Given the description of an element on the screen output the (x, y) to click on. 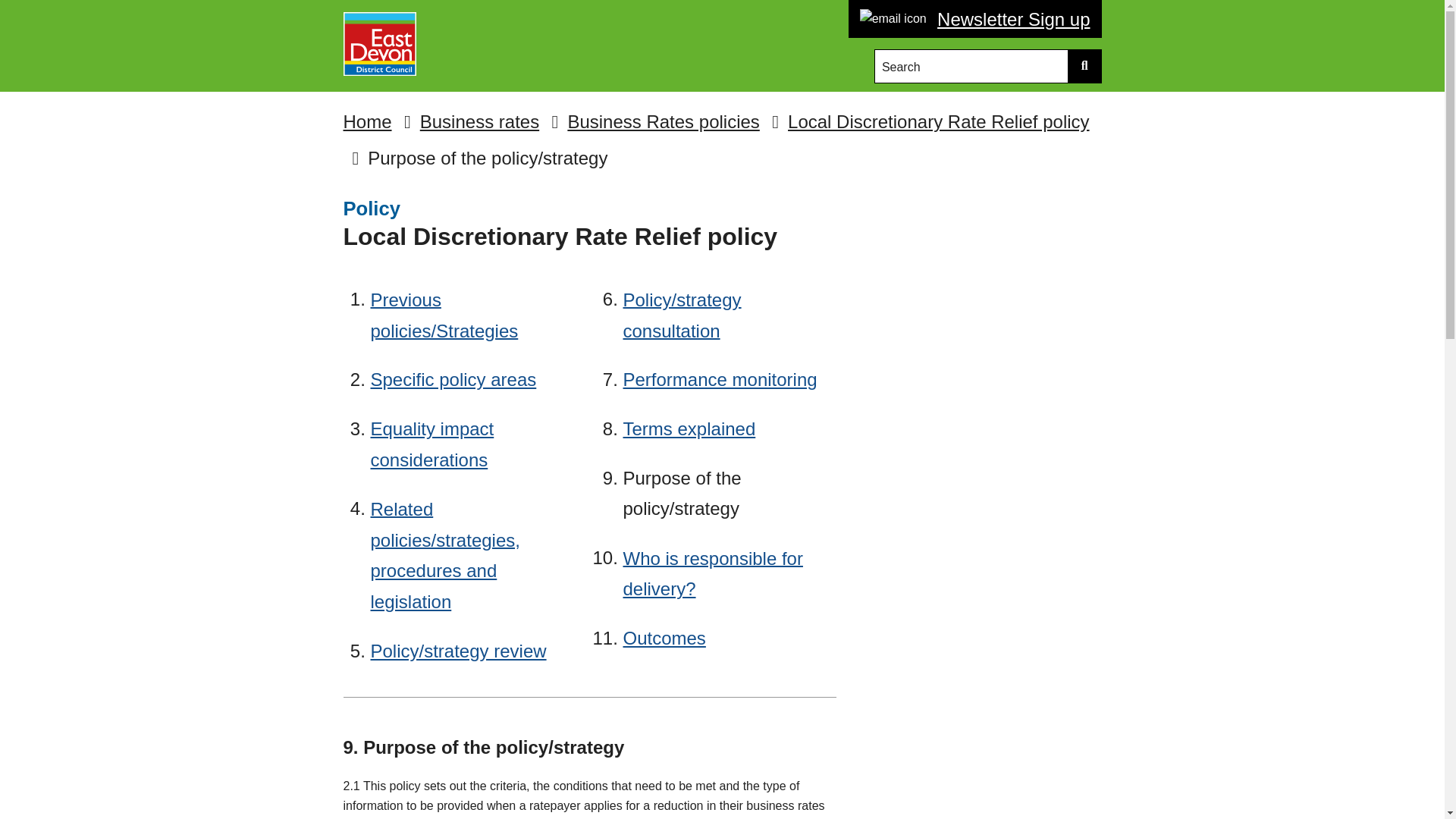
Specific policy areas (452, 378)
Terms explained (689, 428)
Home (366, 121)
Business rates (479, 121)
Local Discretionary Rate Relief policy (938, 121)
Search (971, 66)
Newsletter Sign up (1008, 20)
Equality impact considerations (431, 443)
Business Rates policies (662, 121)
Outcomes (664, 637)
